Given the description of an element on the screen output the (x, y) to click on. 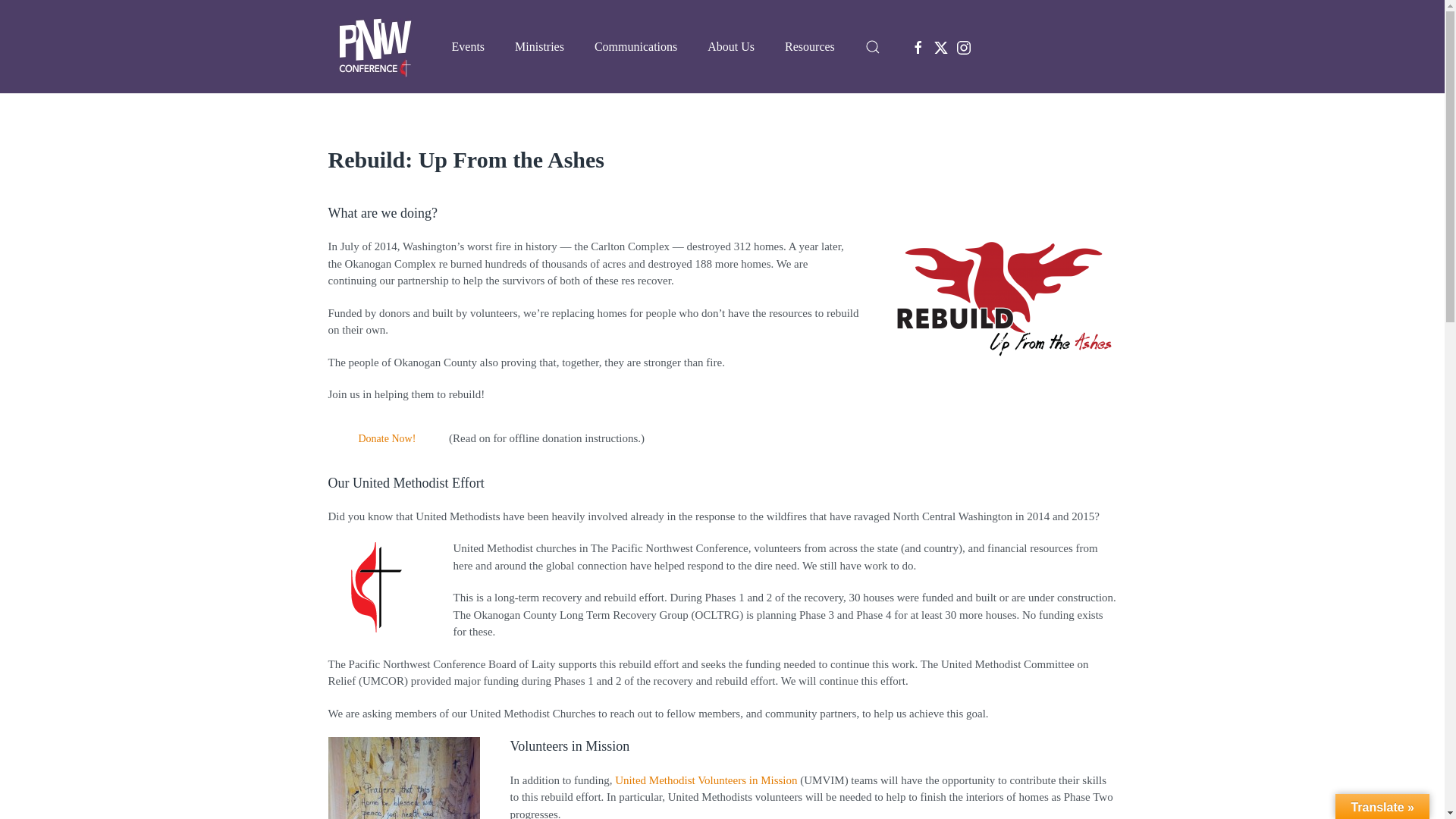
Page 2 (721, 778)
